Given the description of an element on the screen output the (x, y) to click on. 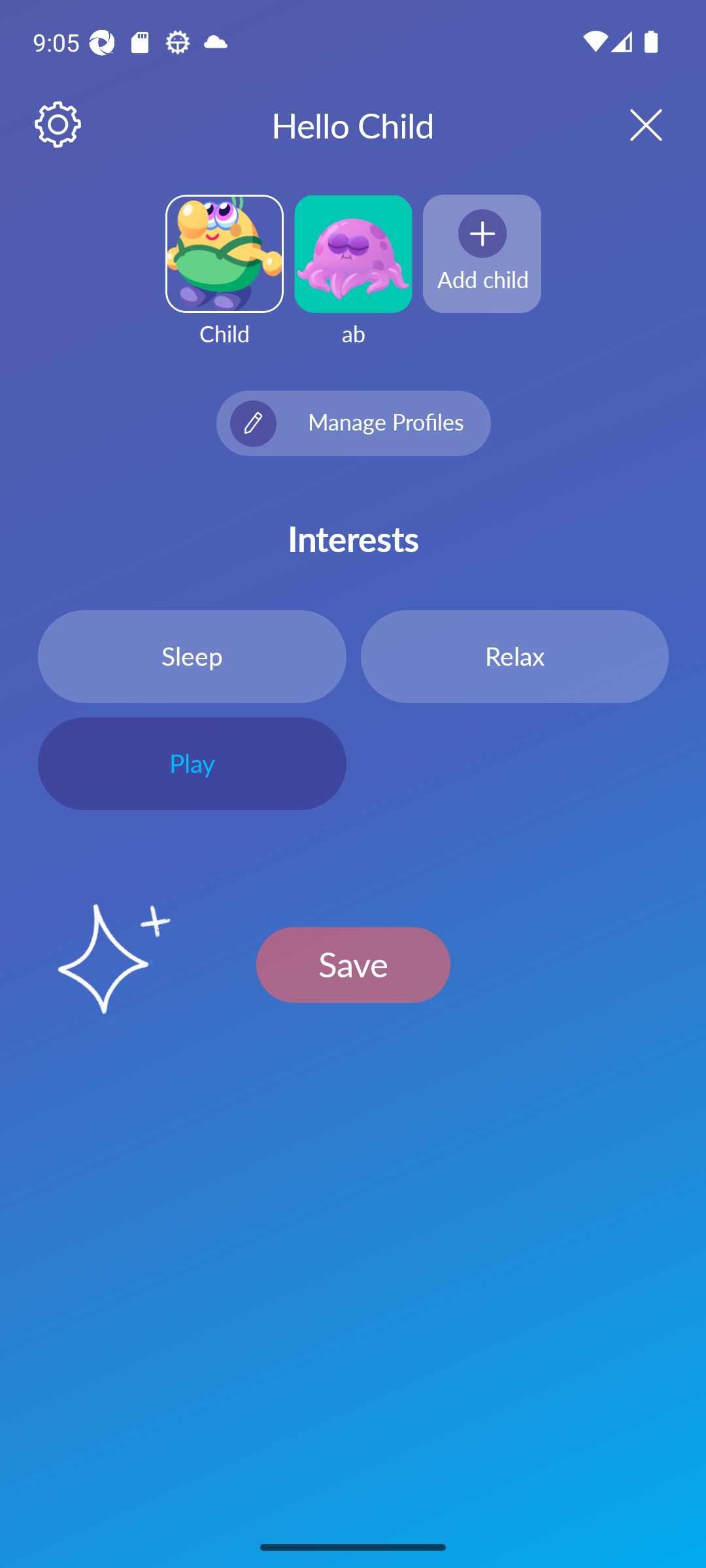
Close (629, 124)
Settings (58, 125)
Child (224, 282)
ab (353, 282)
Add child (481, 253)
icon Manage Profiles (353, 423)
Sleep (192, 655)
Relax (514, 655)
Play (192, 764)
Save (353, 964)
